Given the description of an element on the screen output the (x, y) to click on. 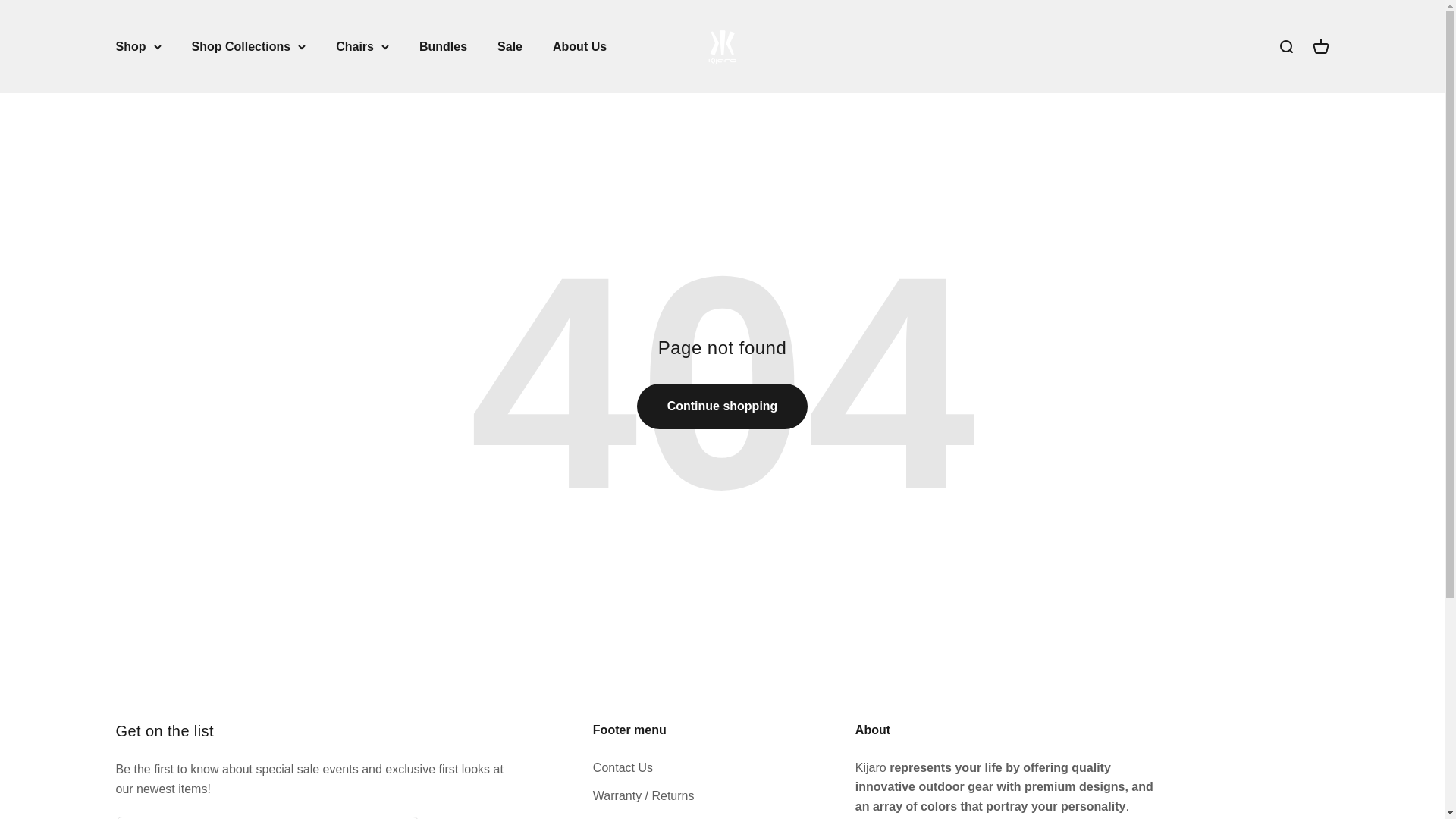
Kijaro (721, 46)
Open search (1319, 45)
About Us (1285, 45)
Sale (580, 46)
Bundles (509, 46)
